Given the description of an element on the screen output the (x, y) to click on. 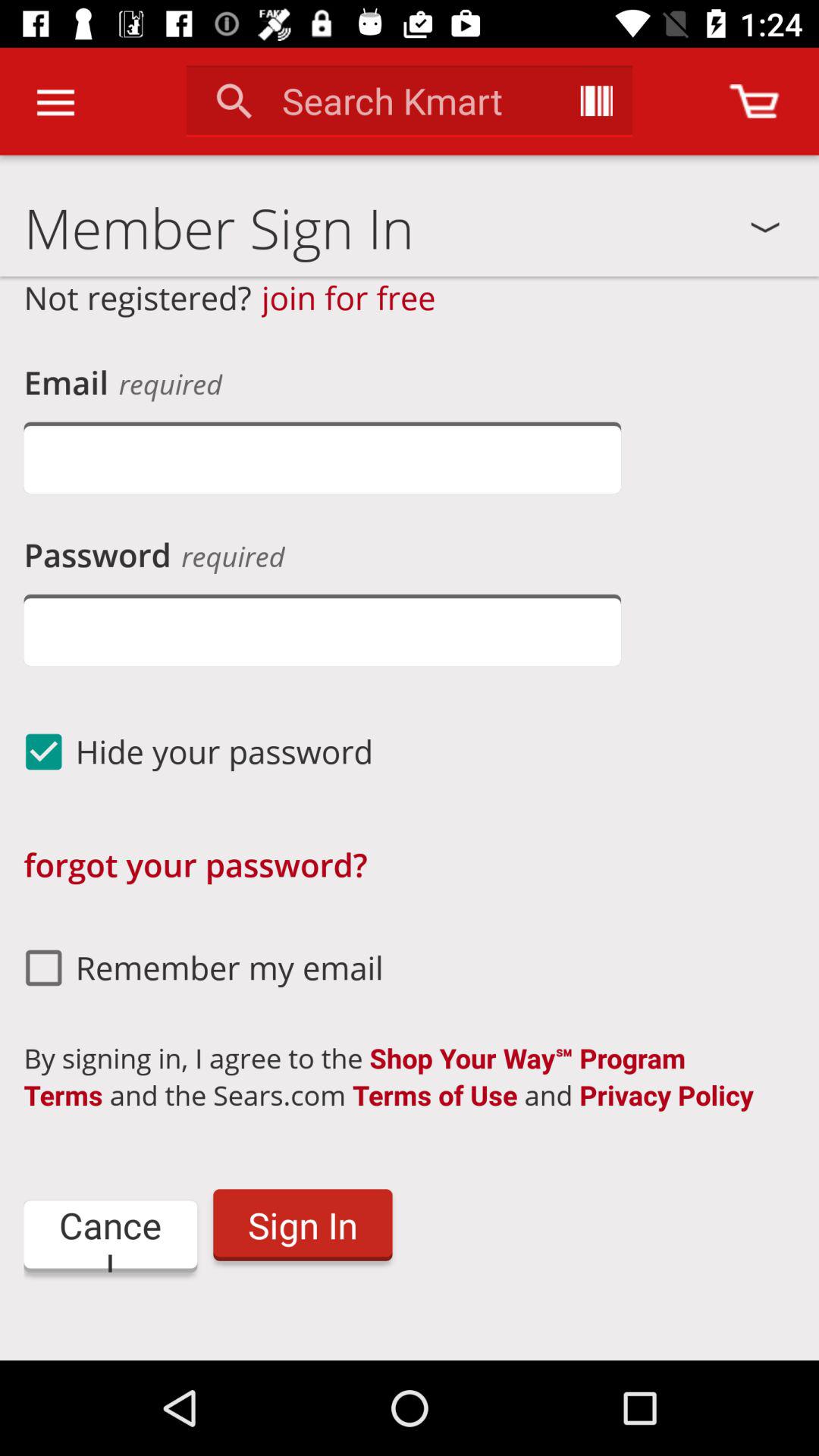
click the item above the hide your password item (322, 630)
